Given the description of an element on the screen output the (x, y) to click on. 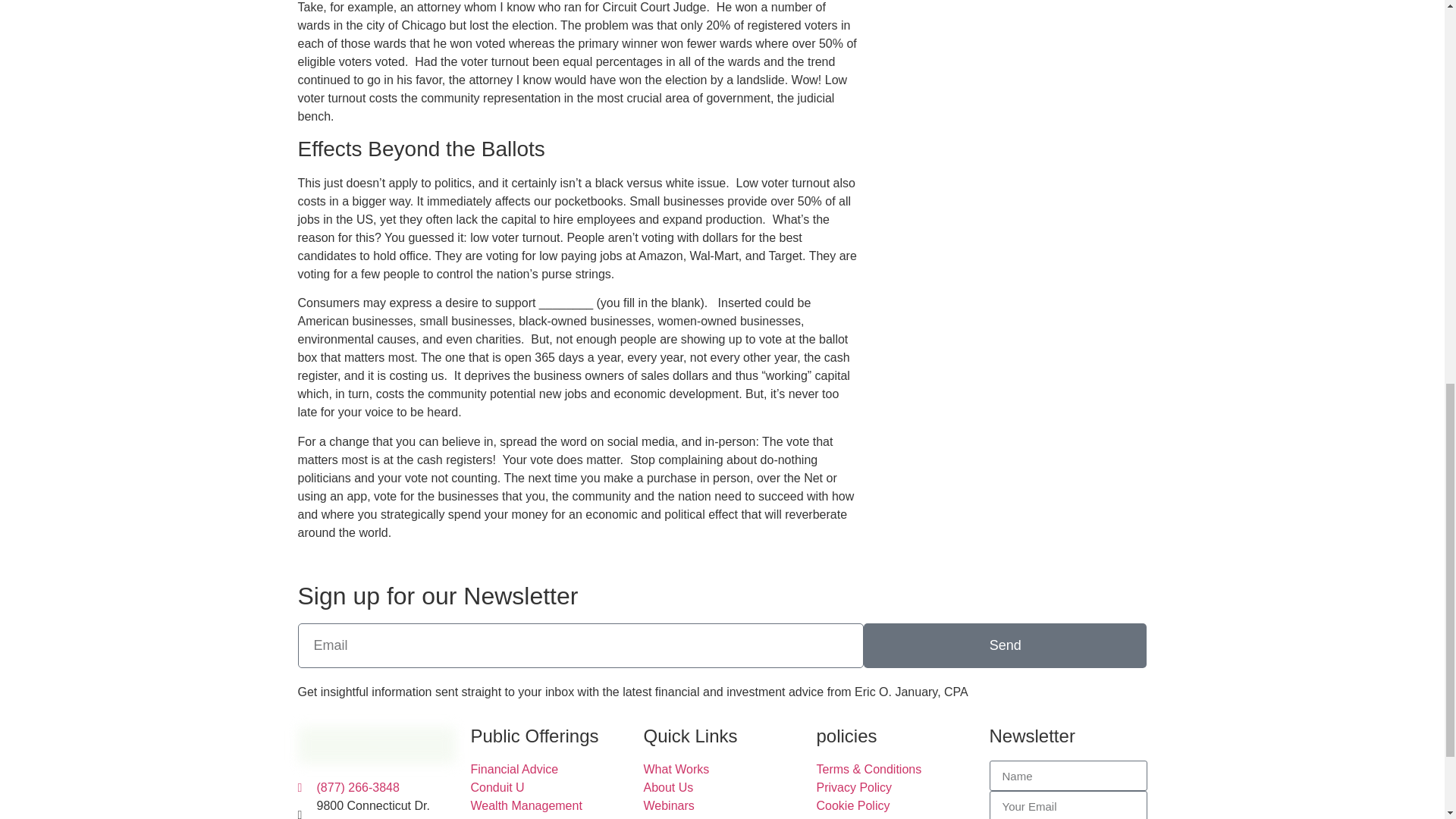
What Works (721, 769)
Conduit U (548, 787)
Send (1005, 645)
Financial Advice (548, 769)
Wealth Management (548, 805)
About Us (721, 787)
